Given the description of an element on the screen output the (x, y) to click on. 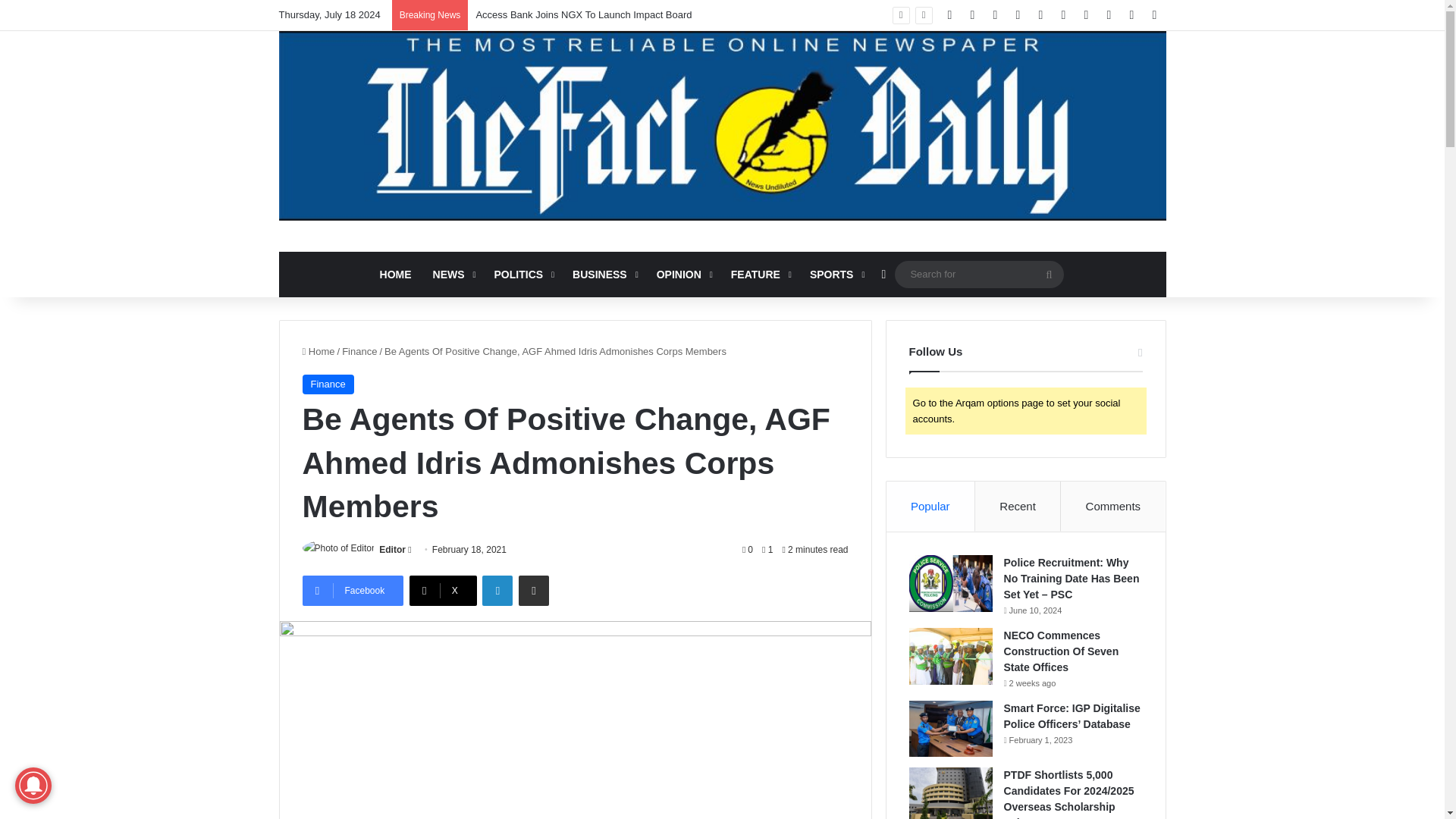
Facebook (352, 590)
Search for (979, 273)
BUSINESS (604, 274)
Share via Email (533, 590)
X (443, 590)
Editor (392, 549)
HOME (395, 274)
NEWS (452, 274)
POLITICS (522, 274)
Access Bank Joins NGX To Launch Impact Board (583, 14)
LinkedIn (496, 590)
